Given the description of an element on the screen output the (x, y) to click on. 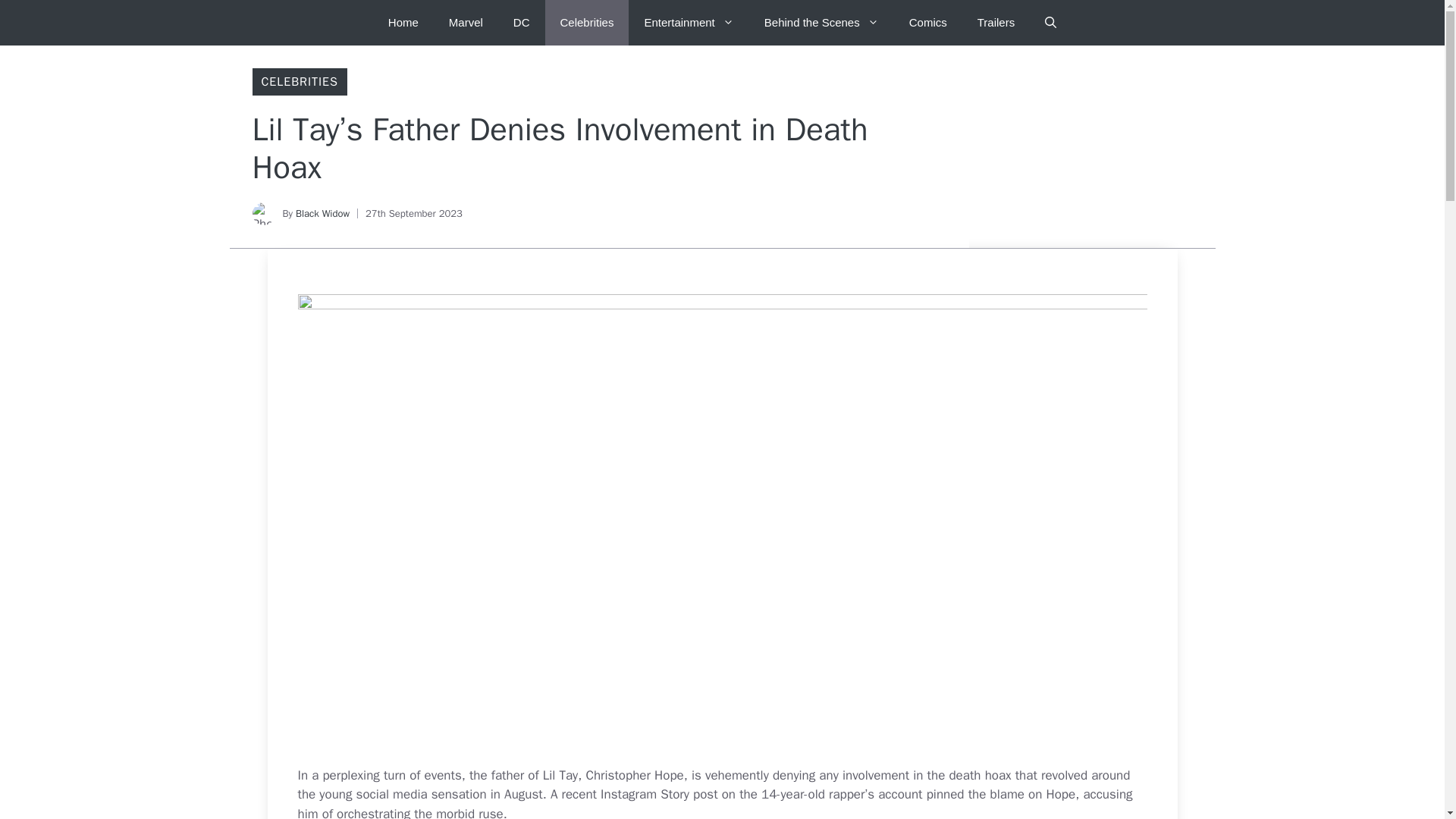
Entertainment (688, 22)
Trailers (995, 22)
Marvel (465, 22)
Behind the Scenes (821, 22)
Home (402, 22)
DC (520, 22)
CELEBRITIES (298, 81)
Black Widow (322, 213)
Comics (927, 22)
Celebrities (586, 22)
